Given the description of an element on the screen output the (x, y) to click on. 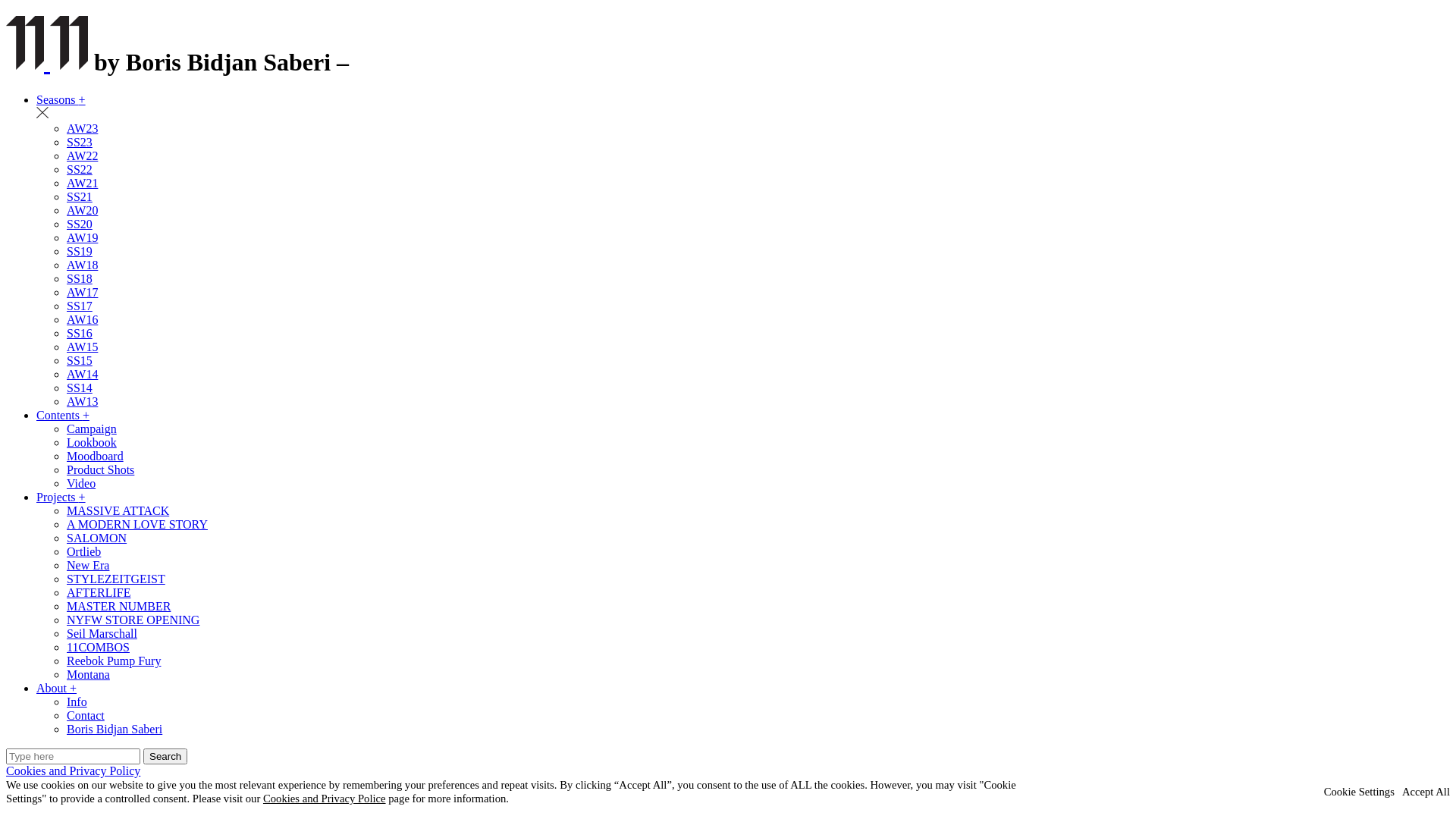
Seasons + Element type: text (60, 99)
MASSIVE ATTACK Element type: text (117, 510)
Accept All Element type: text (1425, 791)
A MODERN LOVE STORY Element type: text (136, 523)
Product Shots Element type: text (100, 469)
Cookie Settings Element type: text (1359, 791)
Cookies and Privacy Police Element type: text (324, 798)
AW23 Element type: text (81, 128)
SS17 Element type: text (79, 305)
Video Element type: text (80, 482)
Lookbook Element type: text (91, 442)
Contact Element type: text (85, 715)
Campaign Element type: text (91, 428)
Projects + Element type: text (60, 496)
SS19 Element type: text (79, 250)
SS23 Element type: text (79, 141)
Boris Bidjan Saberi Element type: text (114, 728)
AW20 Element type: text (81, 209)
AW21 Element type: text (81, 182)
11COMBOS Element type: text (97, 646)
Ortlieb Element type: text (83, 551)
Moodboard Element type: text (94, 455)
SS20 Element type: text (79, 223)
Info Element type: text (76, 701)
AW22 Element type: text (81, 155)
MASTER NUMBER Element type: text (118, 605)
Reebok Pump Fury Element type: text (113, 660)
Contents + Element type: text (62, 414)
STYLEZEITGEIST Element type: text (115, 578)
Remove Filter Element type: hover (42, 114)
SALOMON Element type: text (96, 537)
SS22 Element type: text (79, 169)
Montana Element type: text (87, 674)
SS15 Element type: text (79, 360)
SS18 Element type: text (79, 278)
New Era Element type: text (87, 564)
SS14 Element type: text (79, 387)
Search Element type: text (165, 756)
Search for: Element type: hover (73, 756)
AFTERLIFE Element type: text (98, 592)
About + Element type: text (56, 687)
Back to Home Element type: hover (28, 61)
AW15 Element type: text (81, 346)
AW17 Element type: text (81, 291)
NYFW STORE OPENING Element type: text (132, 619)
AW18 Element type: text (81, 264)
AW13 Element type: text (81, 401)
AW19 Element type: text (81, 237)
SS16 Element type: text (79, 332)
AW14 Element type: text (81, 373)
AW16 Element type: text (81, 319)
Cookies and Privacy Policy Element type: text (73, 770)
Seil Marschall Element type: text (101, 633)
SS21 Element type: text (79, 196)
